Given the description of an element on the screen output the (x, y) to click on. 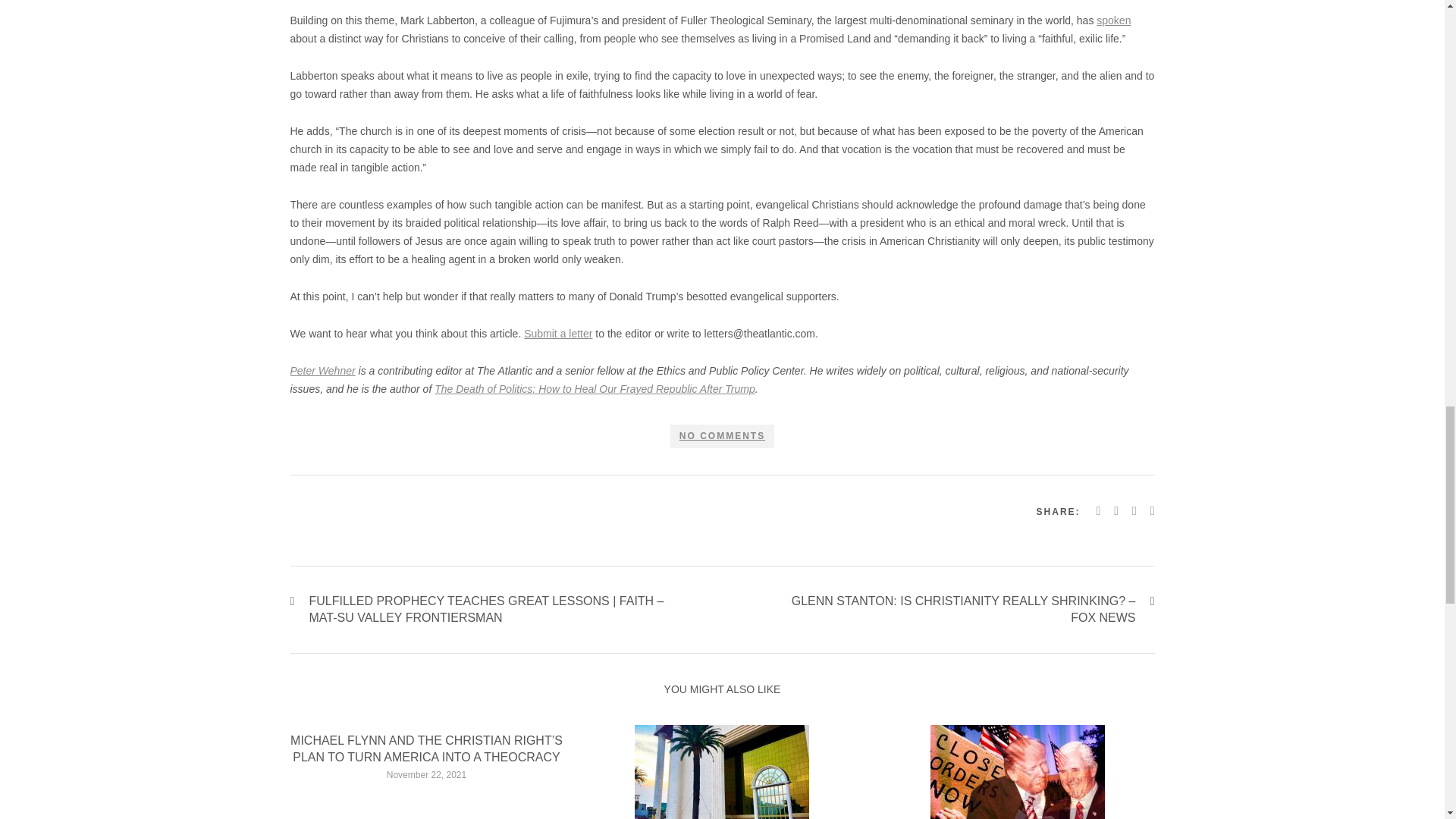
: How to Heal Our Frayed Republic After Trump (643, 388)
The Death of Politics (482, 388)
NO COMMENTS (721, 436)
Submit a letter (558, 333)
Peter Wehner (322, 370)
spoken (1113, 20)
